Given the description of an element on the screen output the (x, y) to click on. 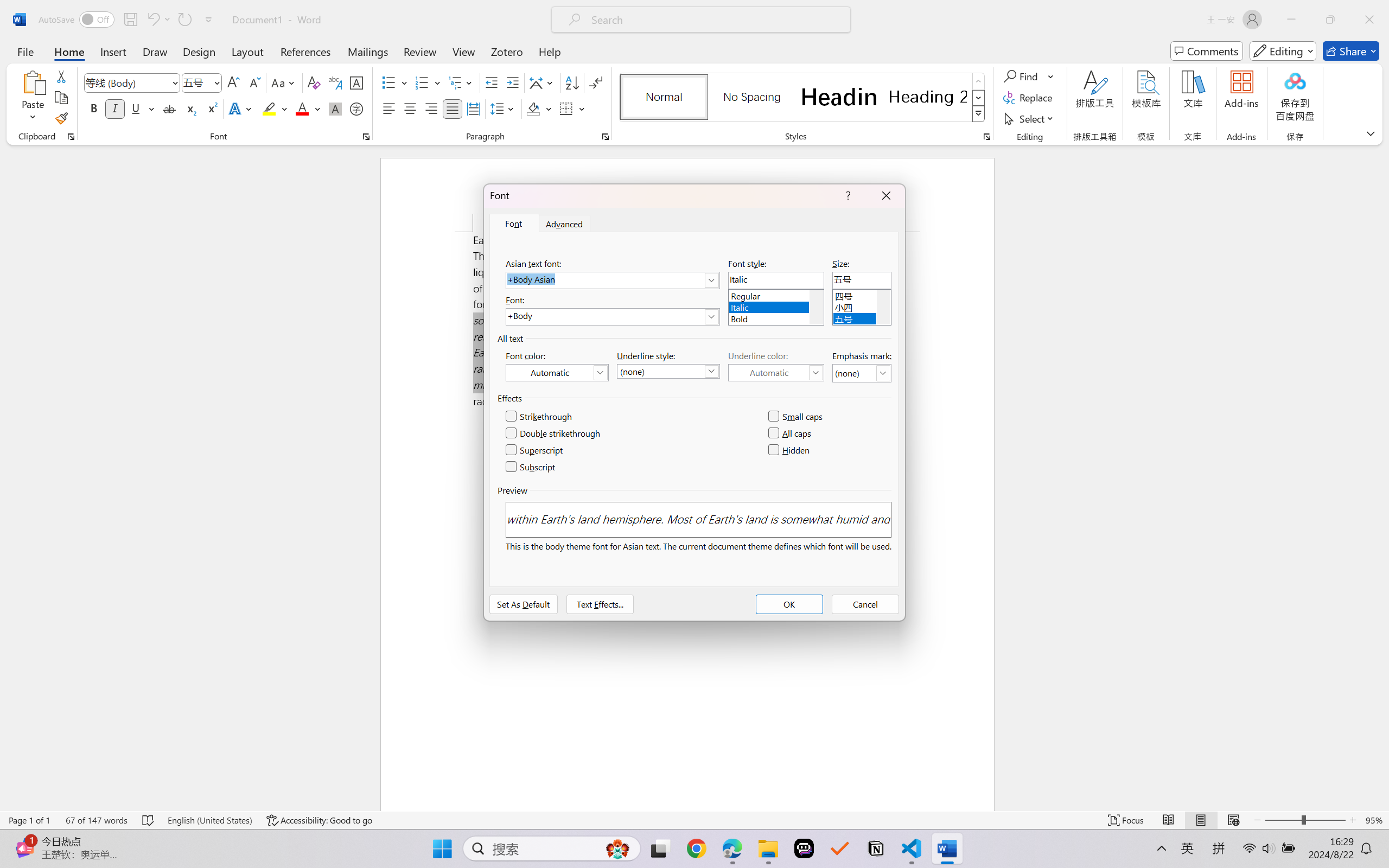
Format Painter (60, 118)
Font Color Red (302, 108)
Align Left (388, 108)
Repeat Doc Close (184, 19)
Italic (115, 108)
Strikethrough (169, 108)
Subscript (190, 108)
OK (789, 603)
